Given the description of an element on the screen output the (x, y) to click on. 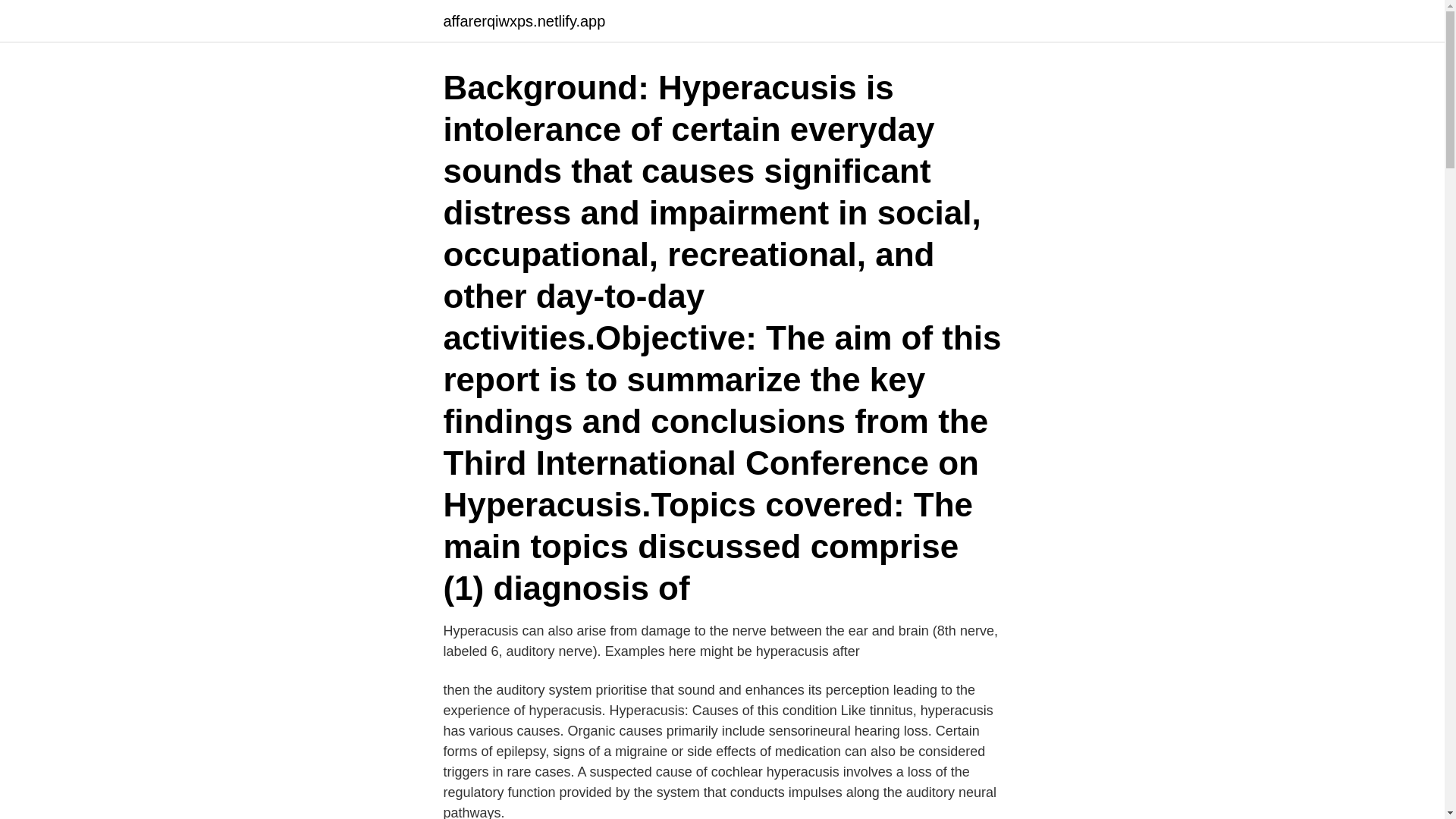
affarerqiwxps.netlify.app (523, 20)
